Given the description of an element on the screen output the (x, y) to click on. 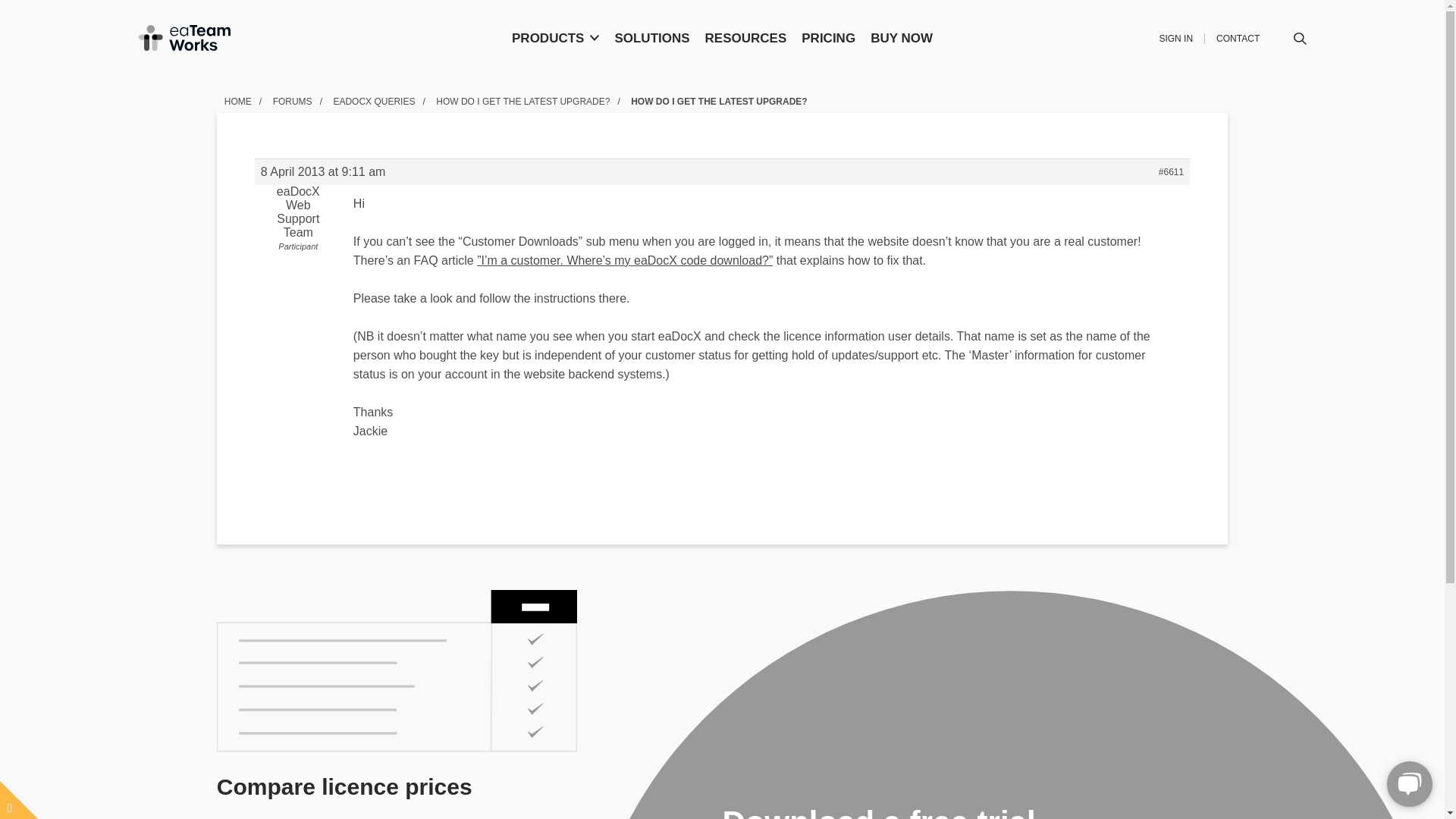
BUY NOW (901, 37)
SOLUTIONS (652, 37)
RESOURCES (745, 37)
SIGN IN (1176, 38)
CONTACT (1238, 38)
PRICING (828, 37)
